Given the description of an element on the screen output the (x, y) to click on. 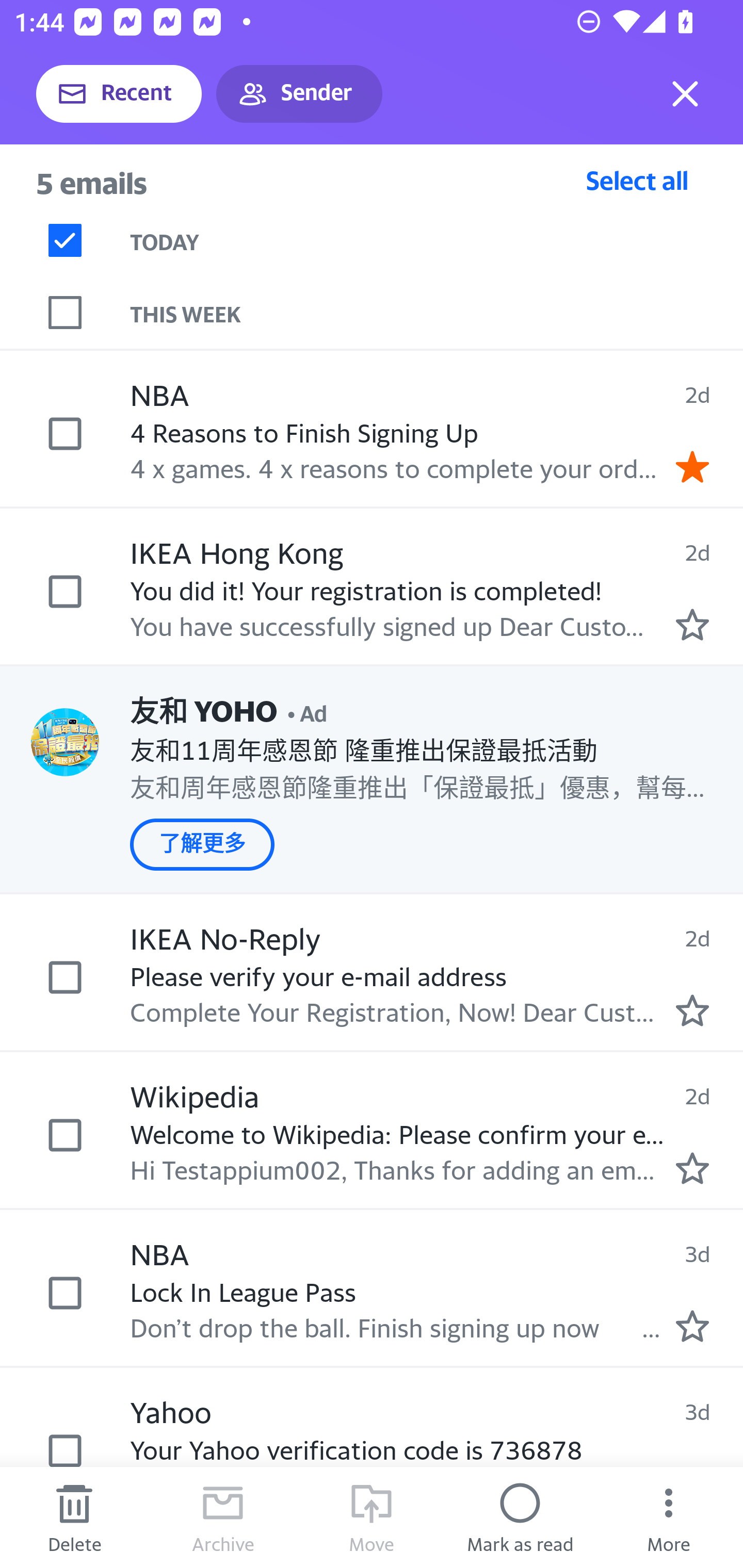
Sender (299, 93)
Exit selection mode (684, 93)
Select all (637, 180)
THIS WEEK (436, 312)
Remove star. (692, 466)
Mark as starred. (692, 624)
Mark as starred. (692, 1010)
Mark as starred. (692, 1168)
Mark as starred. (692, 1325)
Delete (74, 1517)
Archive (222, 1517)
Move (371, 1517)
Mark as read (519, 1517)
More (668, 1517)
